Given the description of an element on the screen output the (x, y) to click on. 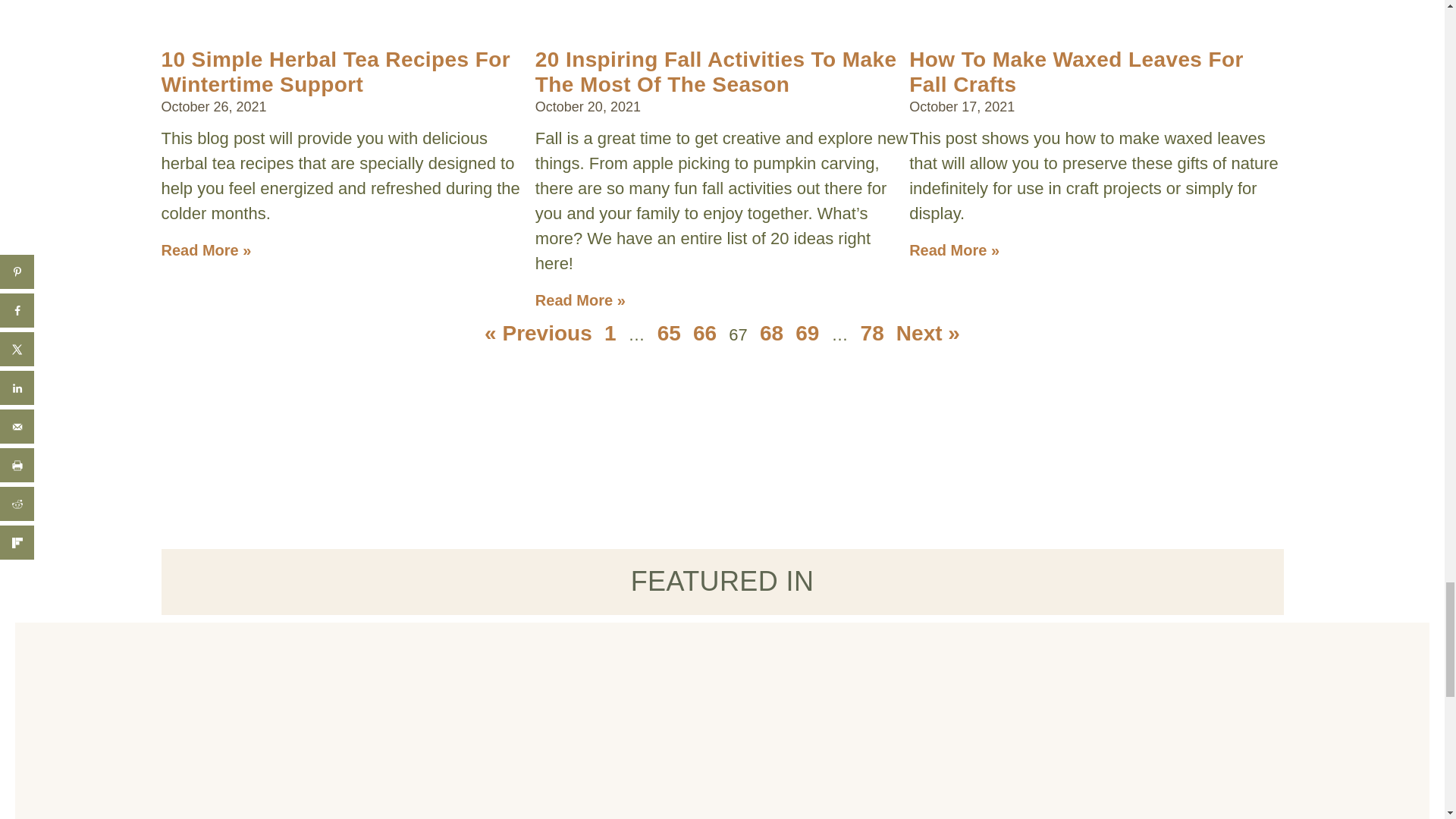
The Outdoor Apothecary (580, 738)
The Outdoor Apothecary (1092, 47)
The Outdoor Apothecary (718, 47)
The Outdoor Apothecary (345, 47)
The Outdoor Apothecary (863, 724)
The Outdoor Apothecary (294, 724)
